Given the description of an element on the screen output the (x, y) to click on. 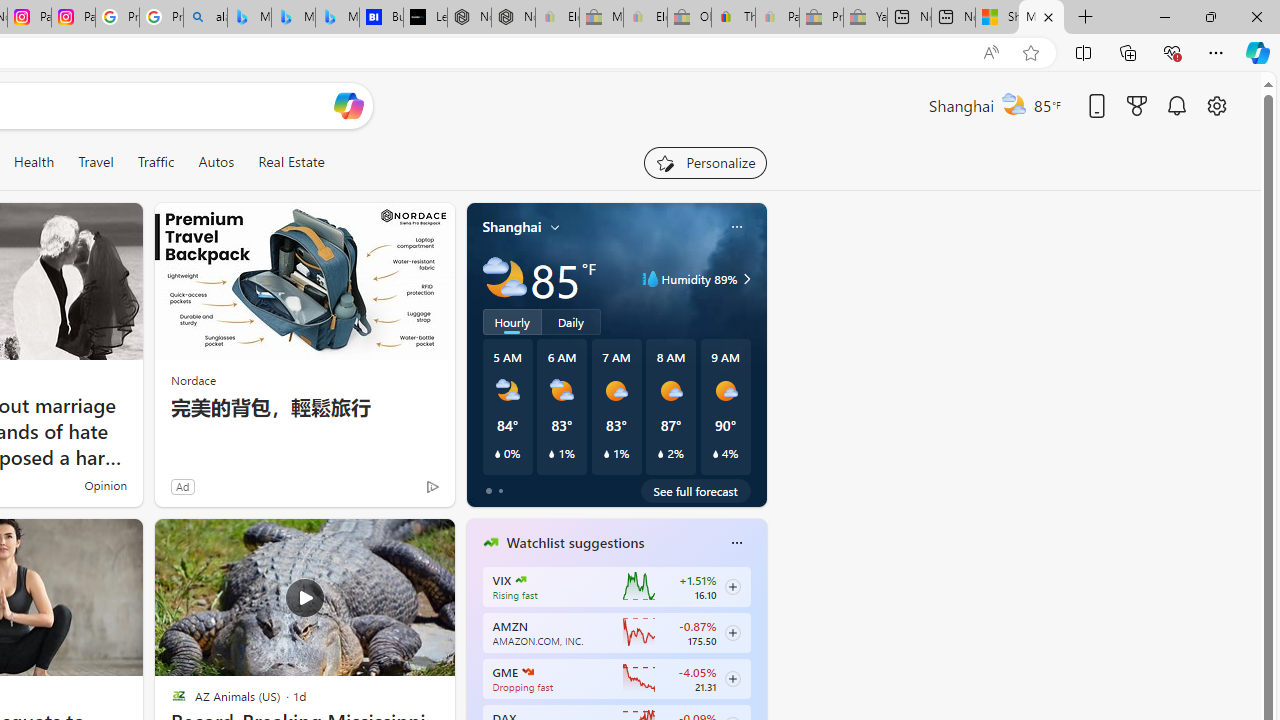
Hide this story (393, 542)
Press Room - eBay Inc. - Sleeping (821, 17)
See full forecast (695, 490)
CBOE Market Volatility Index (520, 579)
Shanghai, China hourly forecast | Microsoft Weather (996, 17)
